Given the description of an element on the screen output the (x, y) to click on. 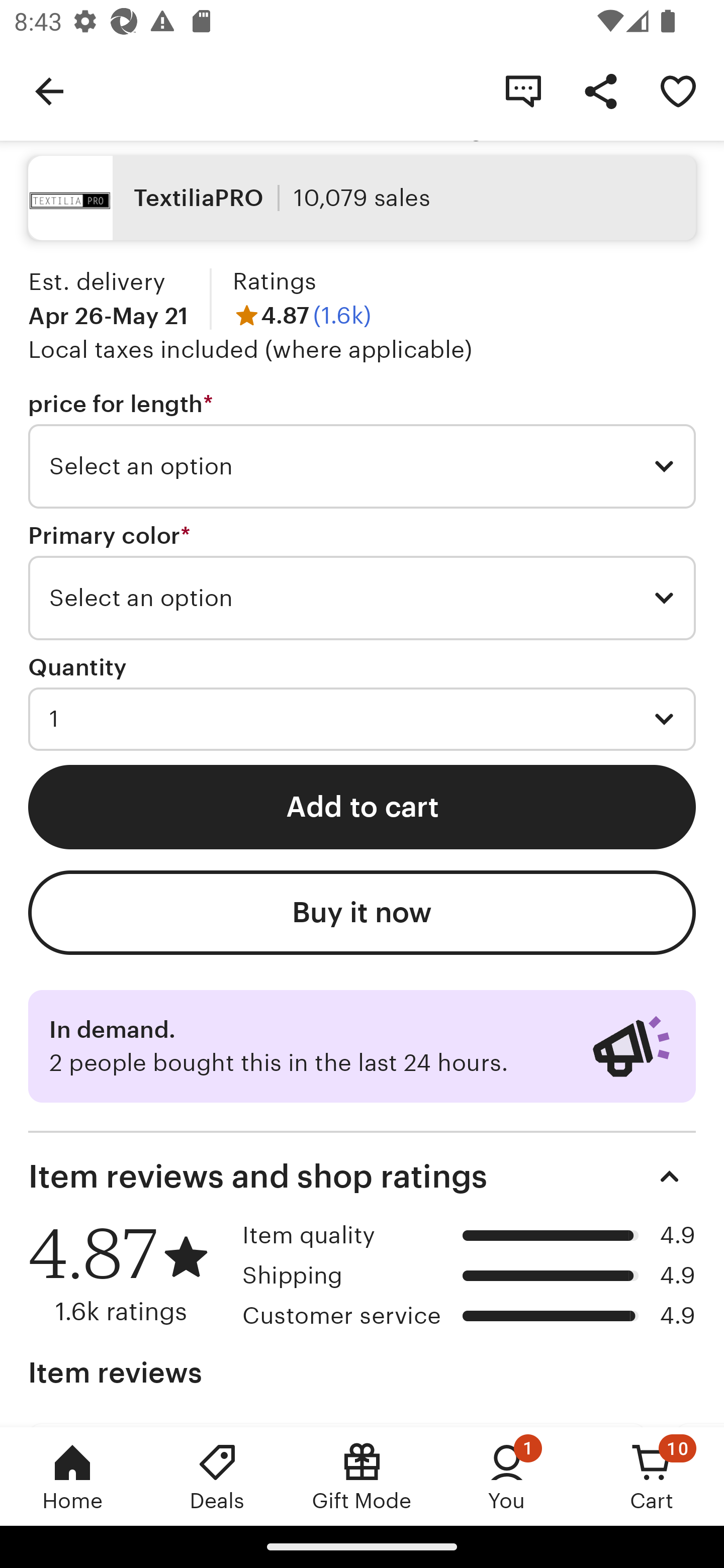
Navigate up (49, 90)
Contact shop (523, 90)
Share (600, 90)
TextiliaPRO 10,079 sales (361, 197)
Ratings (275, 281)
4.87 (1.6k) (302, 315)
price for length * Required Select an option (361, 449)
Select an option (361, 466)
Primary color * Required Select an option (361, 580)
Select an option (361, 597)
Quantity (77, 666)
1 (361, 718)
Add to cart (361, 807)
Buy it now (361, 912)
Item reviews and shop ratings (362, 1175)
4.87 1.6k ratings (128, 1273)
Deals (216, 1475)
Gift Mode (361, 1475)
You, 1 new notification You (506, 1475)
Cart, 10 new notifications Cart (651, 1475)
